Given the description of an element on the screen output the (x, y) to click on. 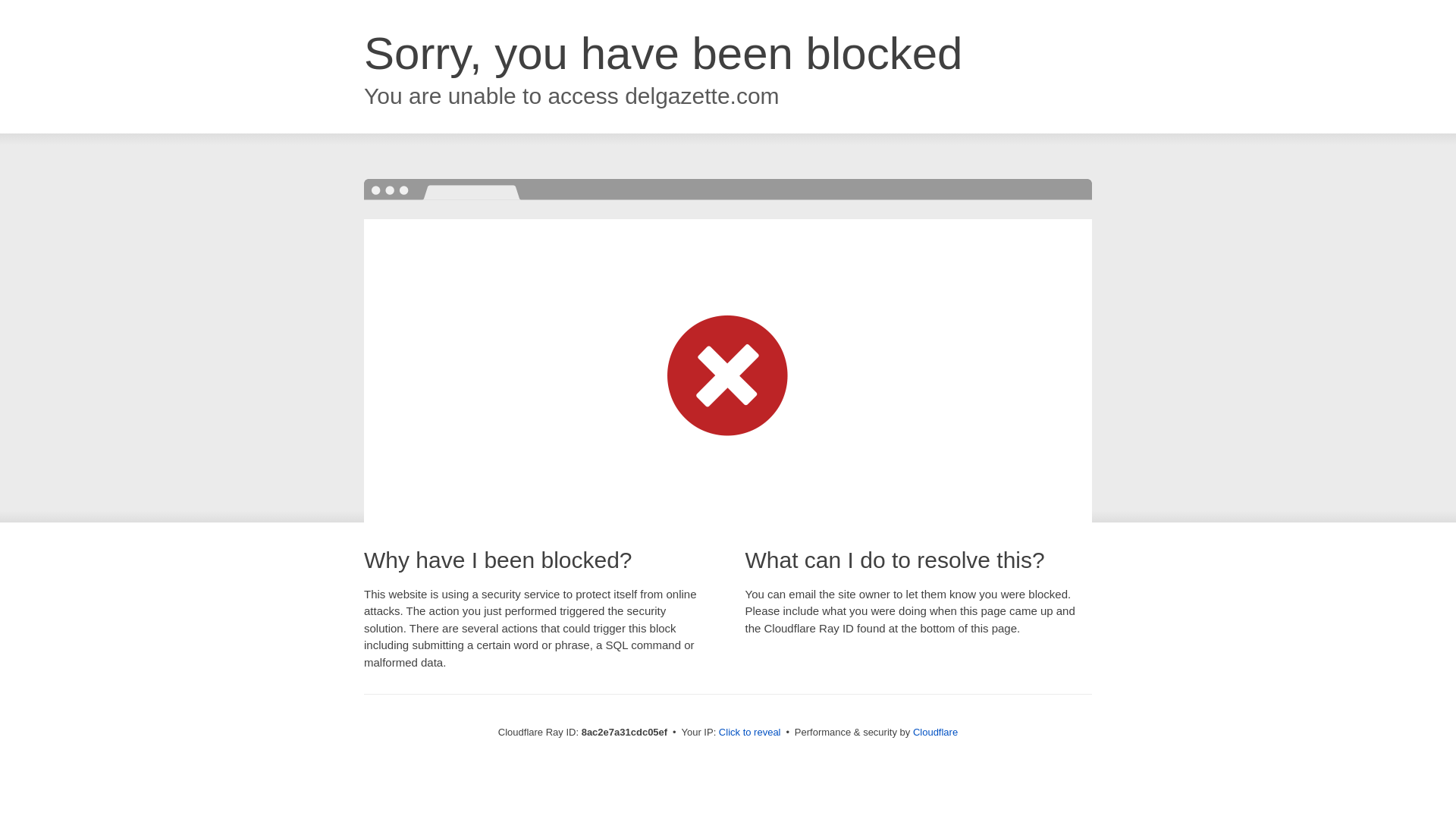
Cloudflare (935, 731)
Click to reveal (749, 732)
